Given the description of an element on the screen output the (x, y) to click on. 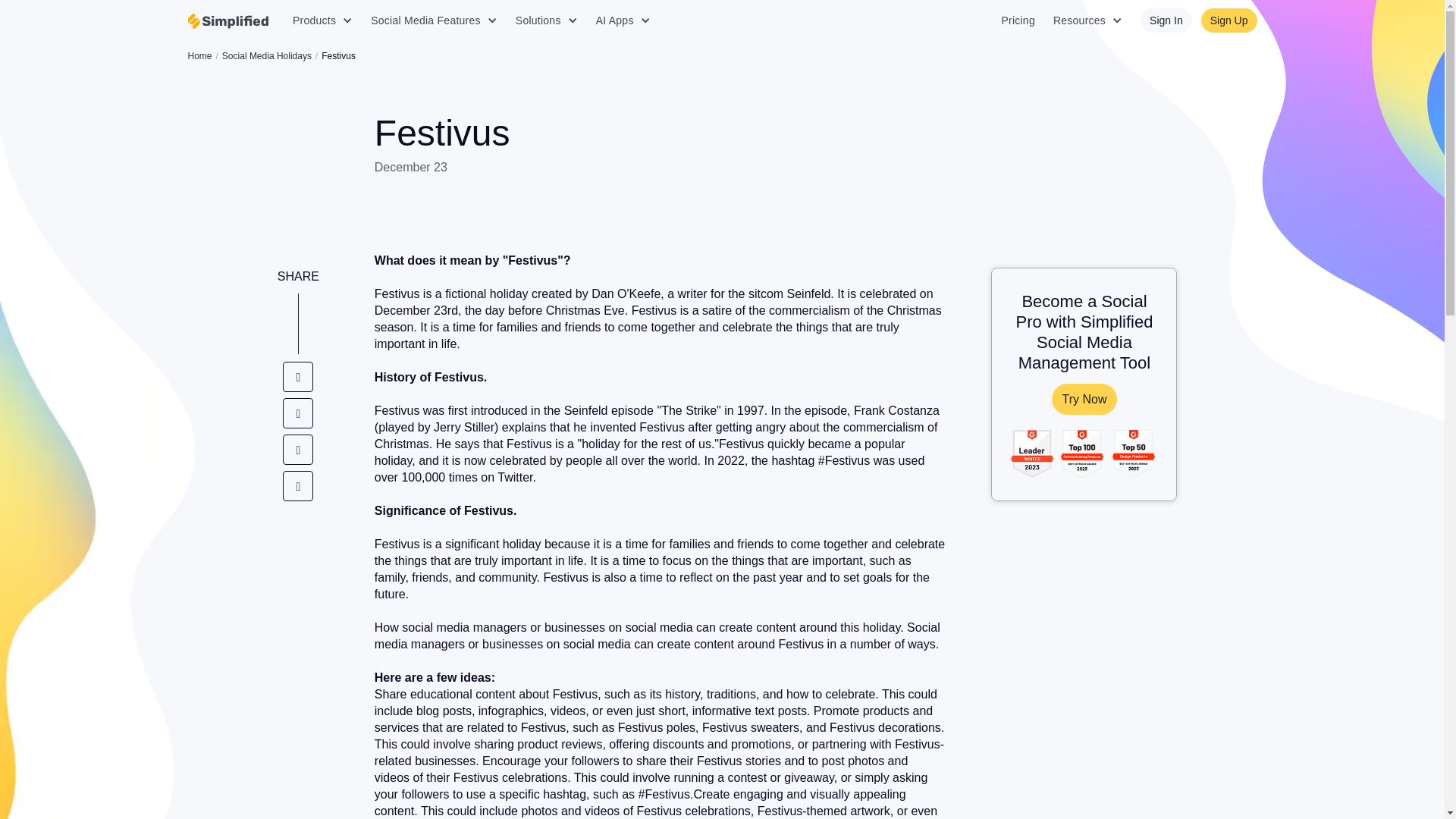
Simplified (228, 20)
